Given the description of an element on the screen output the (x, y) to click on. 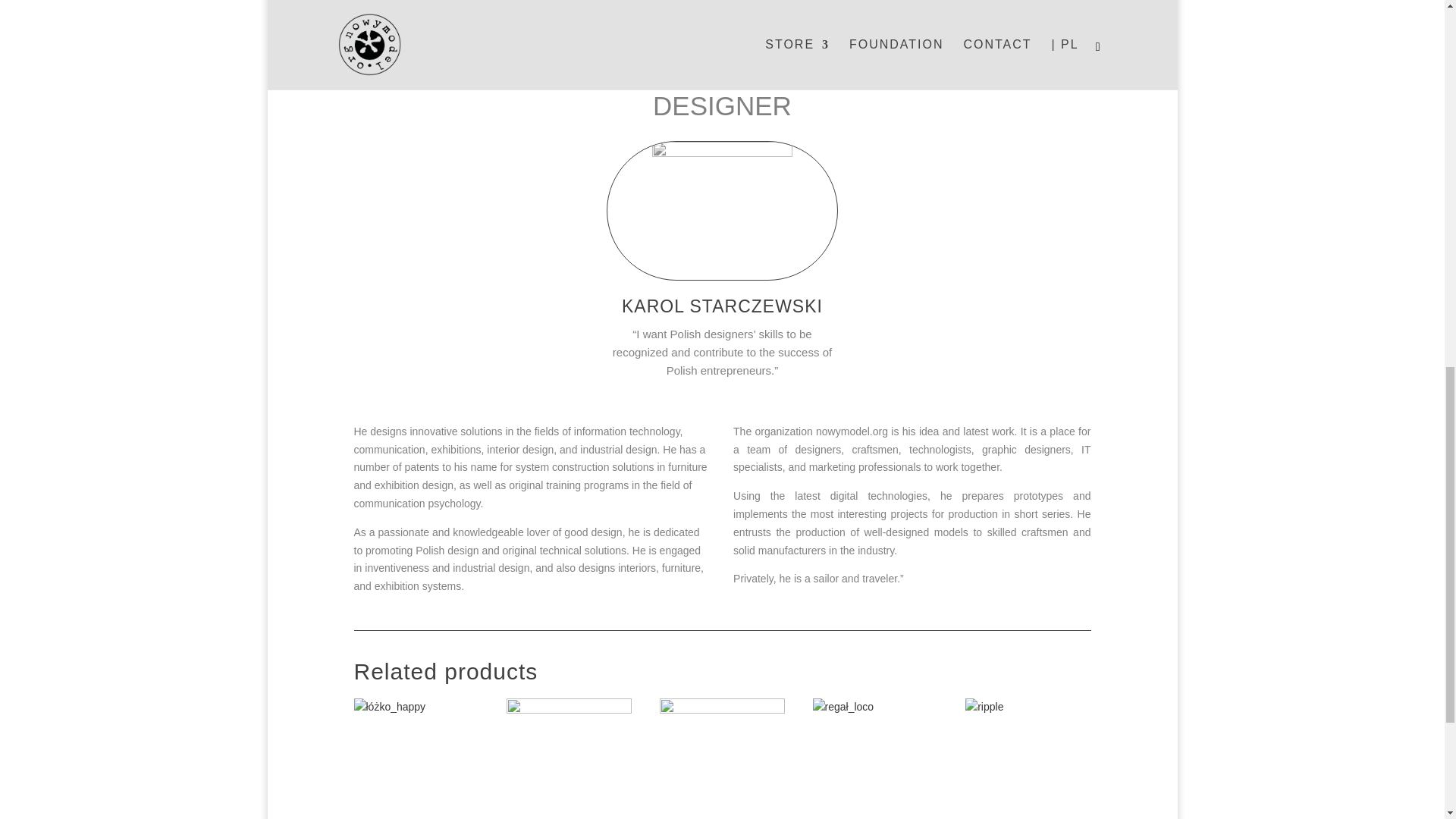
Sideboard Ripple (1027, 758)
RTV module LOCO (568, 758)
LOCO dresser (721, 758)
Happy bed side table (416, 758)
LOCO wall bookcase (874, 758)
